Given the description of an element on the screen output the (x, y) to click on. 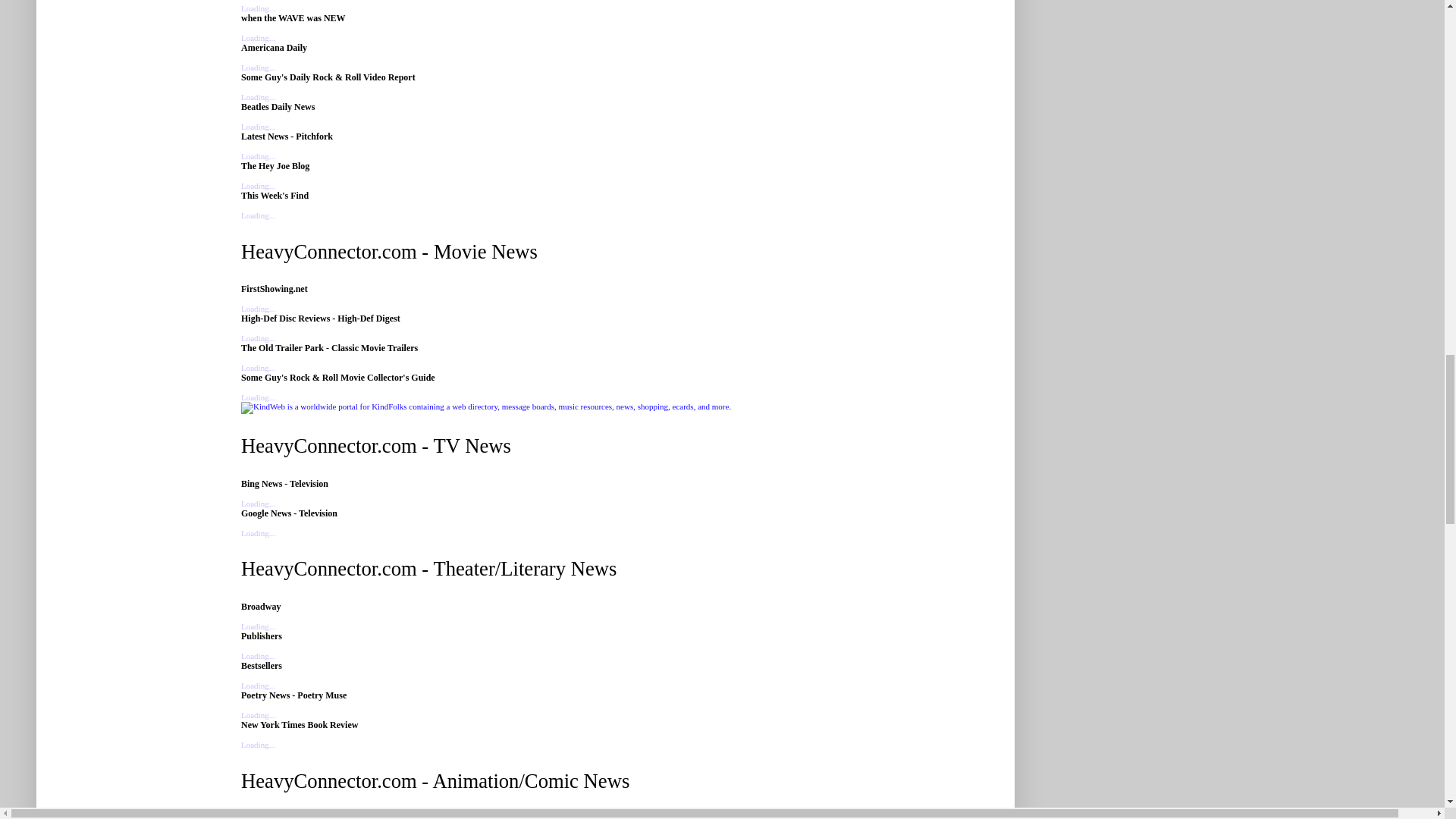
Loading... (258, 502)
Loading... (258, 625)
Loading... (258, 67)
Loading... (258, 307)
Loading... (258, 185)
Loading... (258, 397)
Loading... (258, 338)
Loading... (258, 532)
Loading... (258, 37)
Loading... (258, 155)
Loading... (258, 215)
Loading... (258, 8)
Loading... (258, 126)
Loading... (258, 96)
Loading... (258, 367)
